Given the description of an element on the screen output the (x, y) to click on. 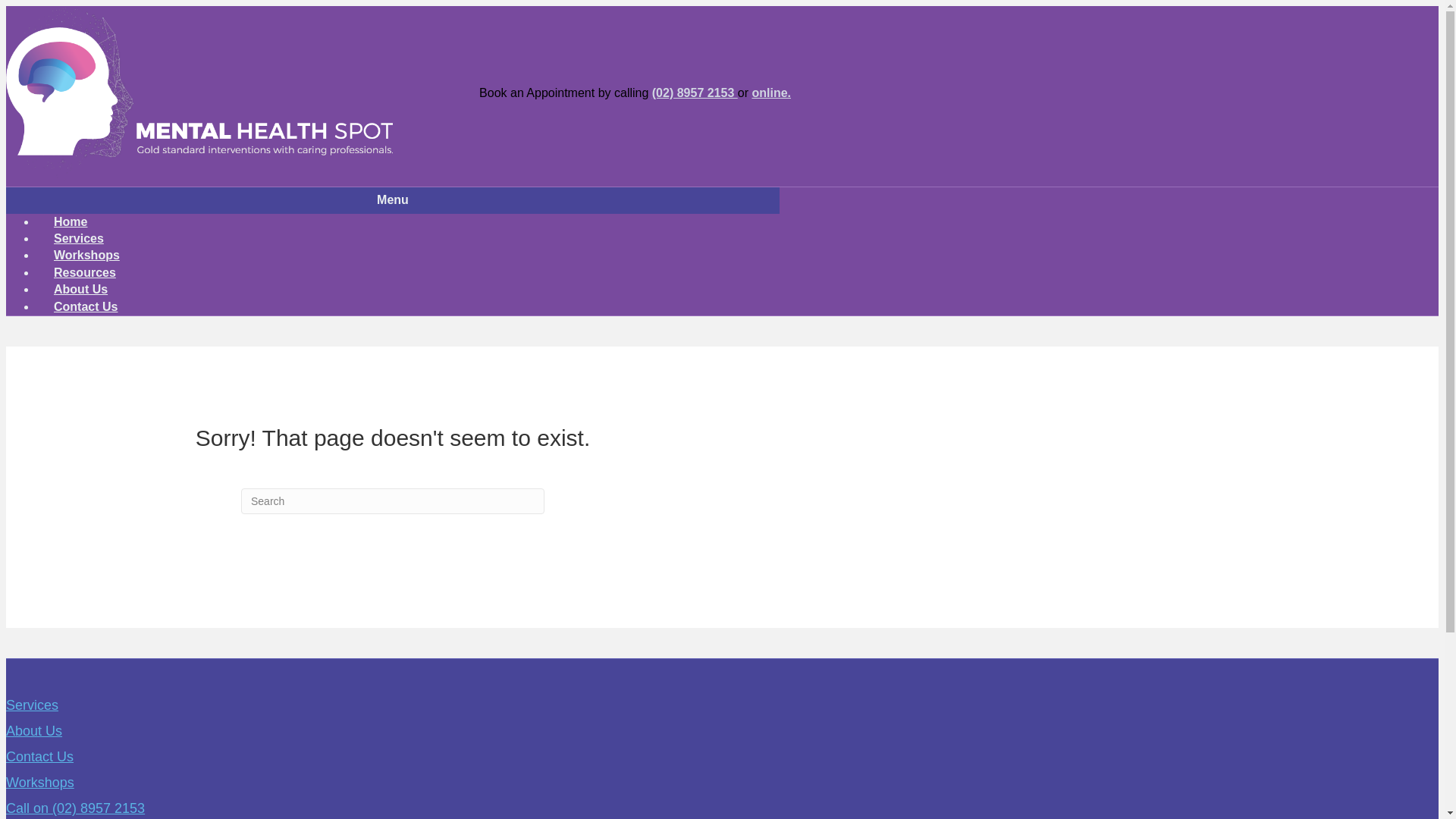
Home (70, 221)
Type and press Enter to search. (392, 501)
online. (770, 92)
About Us (80, 289)
Workshops (39, 782)
Menu (391, 199)
Contact Us (39, 756)
Search (392, 501)
Services (78, 238)
About Us (33, 730)
Search (392, 501)
Resources (84, 272)
Contact Us (85, 306)
Services (31, 704)
Workshops (86, 254)
